Given the description of an element on the screen output the (x, y) to click on. 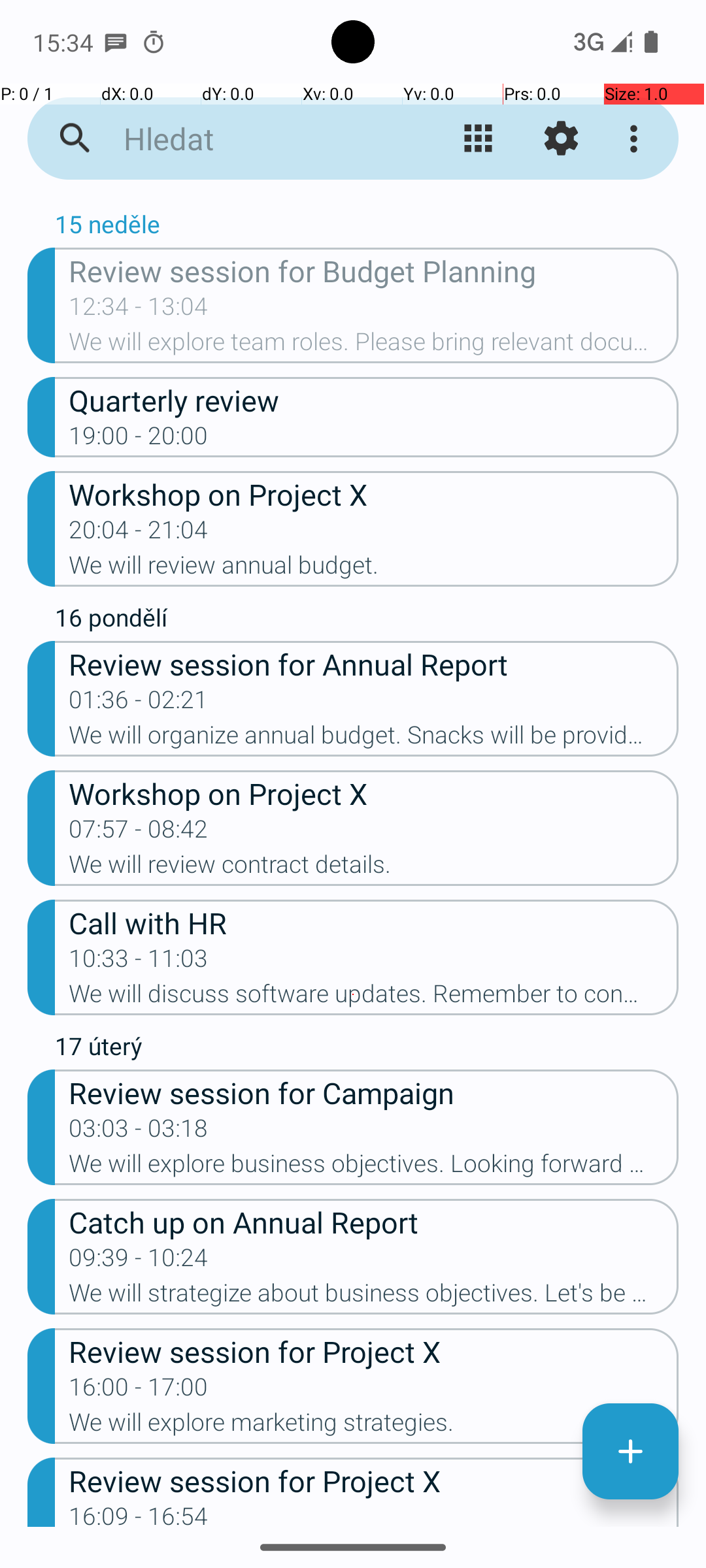
ŘÍJEN Element type: android.widget.TextView (353, 200)
15 neděle Element type: android.widget.TextView (366, 227)
16 pondělí Element type: android.widget.TextView (366, 620)
17 úterý Element type: android.widget.TextView (366, 1049)
12:34 - 13:04 Element type: android.widget.TextView (137, 309)
We will explore team roles. Please bring relevant documents. Element type: android.widget.TextView (373, 345)
Quarterly review Element type: android.widget.TextView (373, 399)
19:00 - 20:00 Element type: android.widget.TextView (137, 439)
20:04 - 21:04 Element type: android.widget.TextView (137, 533)
We will review annual budget. Element type: android.widget.TextView (373, 568)
01:36 - 02:21 Element type: android.widget.TextView (137, 703)
We will organize annual budget. Snacks will be provided. Element type: android.widget.TextView (373, 738)
07:57 - 08:42 Element type: android.widget.TextView (137, 832)
We will review contract details. Element type: android.widget.TextView (373, 867)
10:33 - 11:03 Element type: android.widget.TextView (137, 962)
We will discuss software updates. Remember to confirm attendance. Element type: android.widget.TextView (373, 997)
03:03 - 03:18 Element type: android.widget.TextView (137, 1131)
We will explore business objectives. Looking forward to productive discussions. Element type: android.widget.TextView (373, 1167)
09:39 - 10:24 Element type: android.widget.TextView (137, 1261)
We will strategize about business objectives. Let's be punctual. Element type: android.widget.TextView (373, 1296)
16:00 - 17:00 Element type: android.widget.TextView (137, 1390)
We will explore marketing strategies. Element type: android.widget.TextView (373, 1425)
16:09 - 16:54 Element type: android.widget.TextView (137, 1514)
